Given the description of an element on the screen output the (x, y) to click on. 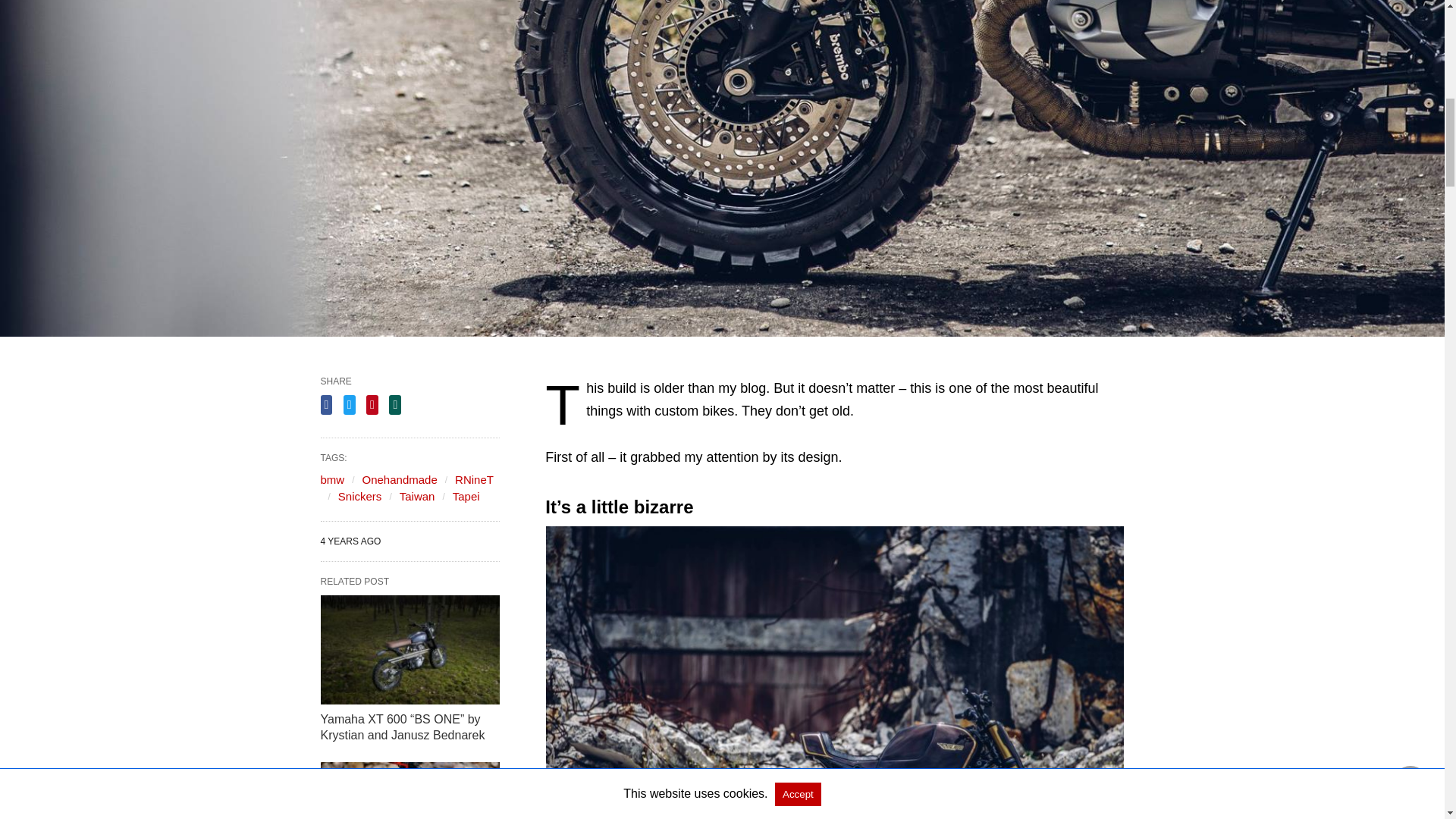
bmw (331, 479)
